Given the description of an element on the screen output the (x, y) to click on. 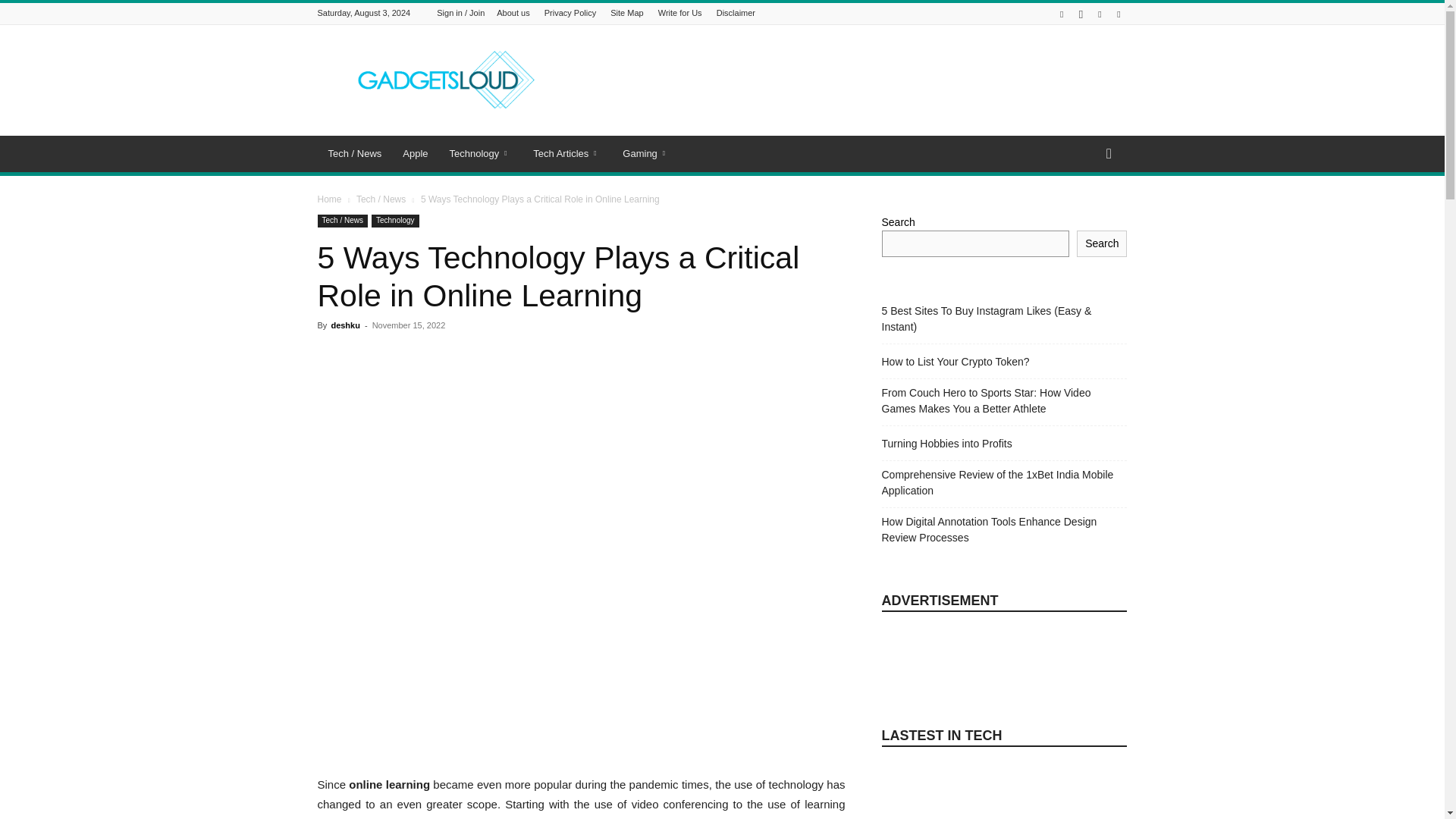
Disclaimer (735, 12)
Twitter (1099, 14)
Site Map (626, 12)
Instagram (1080, 14)
Write for Us (679, 12)
Apple (414, 153)
About us (512, 12)
Facebook (1061, 14)
Privacy Policy (569, 12)
Youtube (1117, 14)
